Given the description of an element on the screen output the (x, y) to click on. 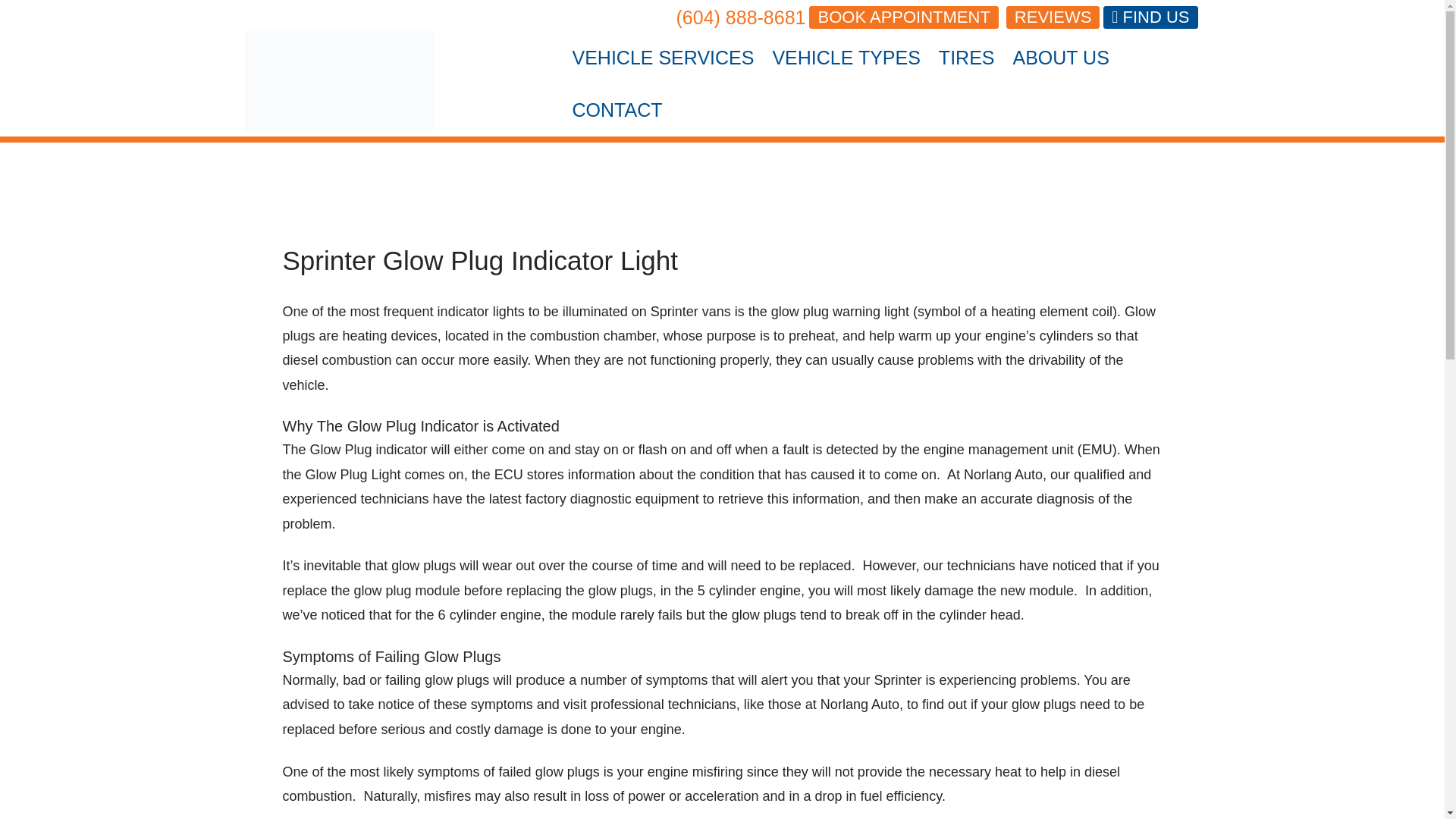
REVIEWS (1052, 16)
VEHICLE TYPES (845, 57)
BOOK APPOINTMENT (903, 16)
FIND US (1149, 16)
REVIEWS (1053, 16)
VEHICLE SERVICES (663, 57)
